Given the description of an element on the screen output the (x, y) to click on. 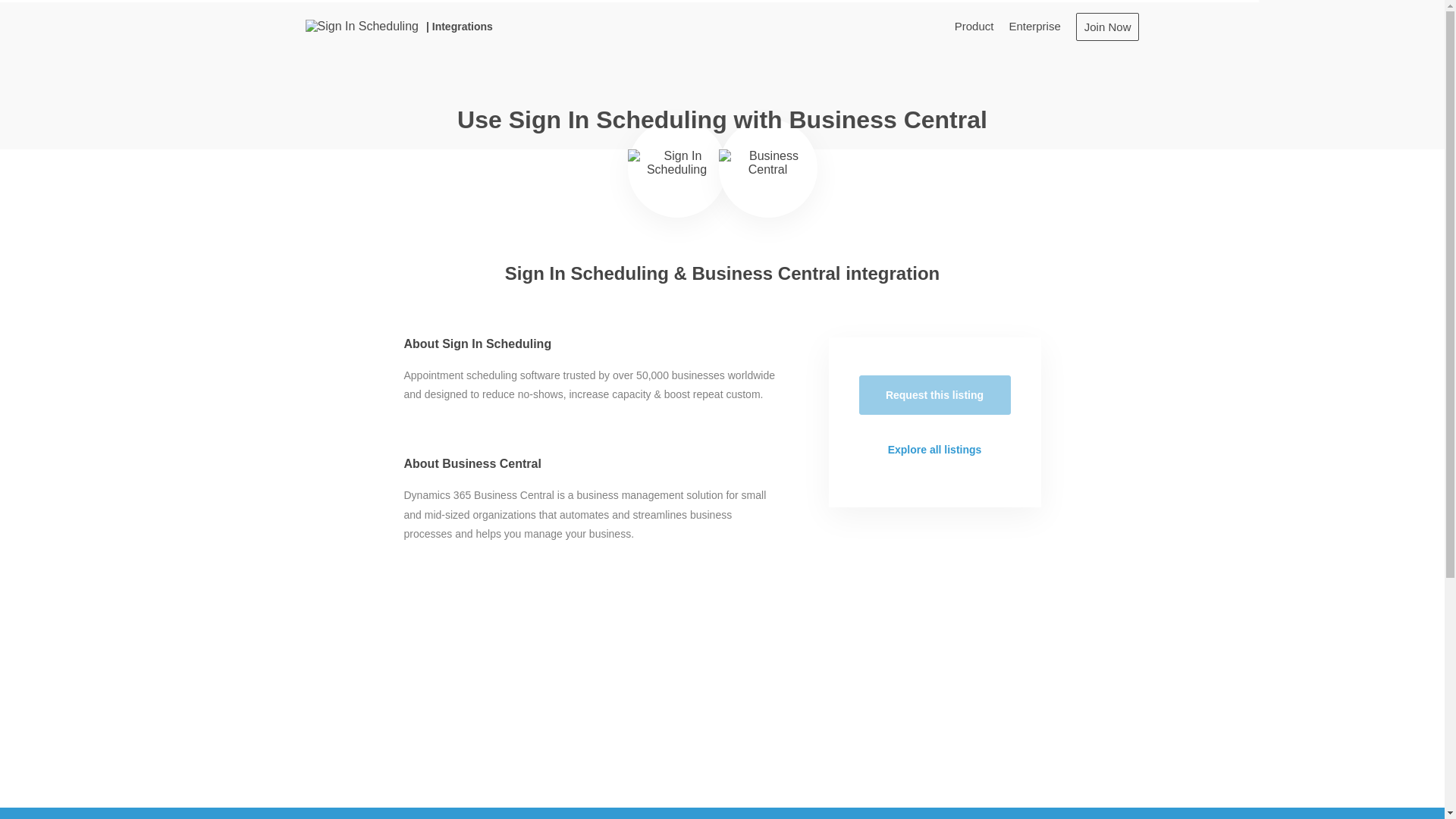
Business Central (767, 168)
Sign In Scheduling (360, 26)
Enterprise (1034, 25)
Join Now (1107, 26)
Sign In Scheduling (676, 168)
Explore all listings (934, 449)
Product (974, 25)
Request this listing (934, 394)
